Given the description of an element on the screen output the (x, y) to click on. 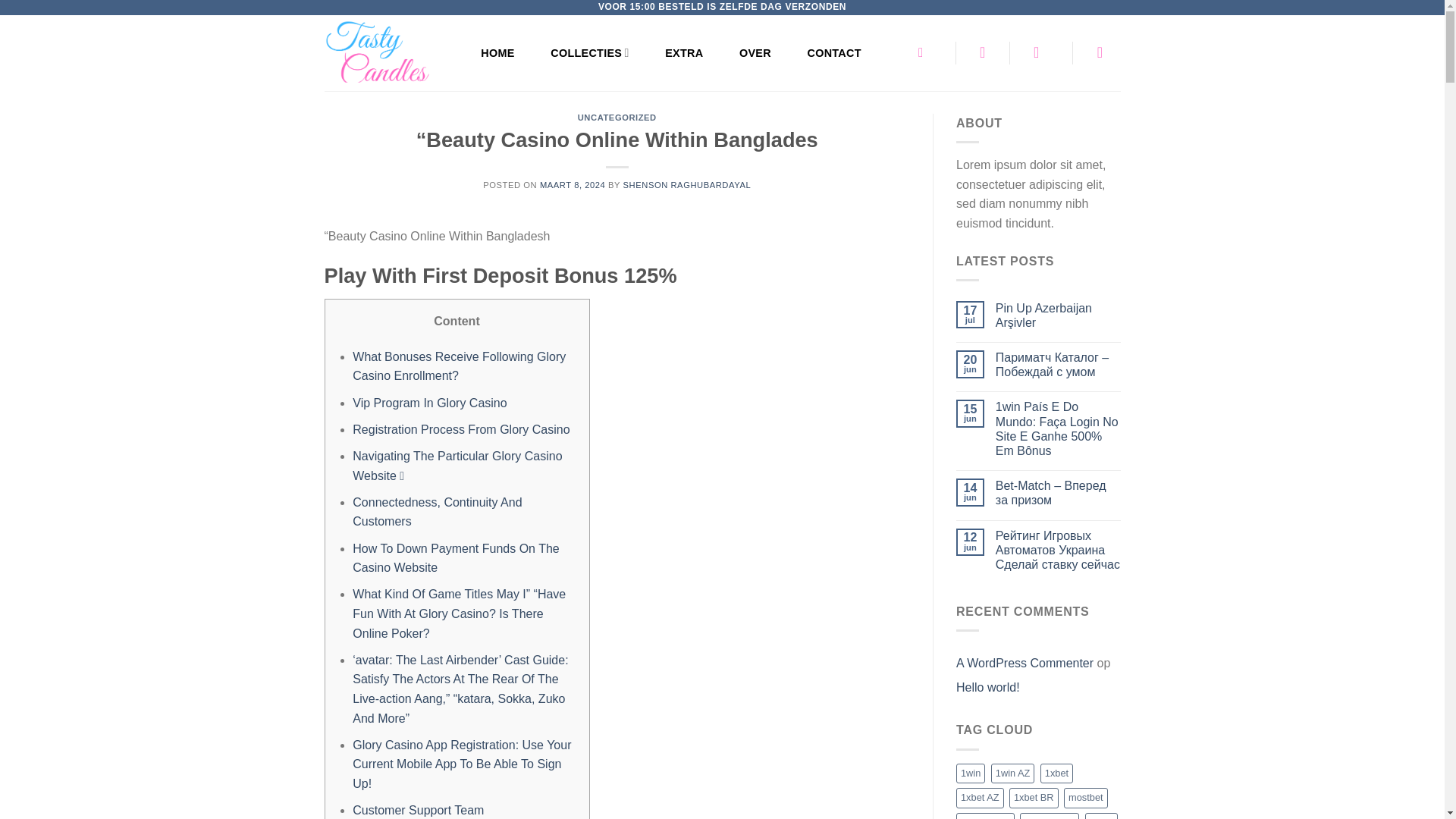
How To Down Payment Funds On The Casino Website (455, 558)
Connectedness, Continuity And Customers (436, 512)
EXTRA (683, 52)
CONTACT (834, 52)
COLLECTIES (589, 52)
MAART 8, 2024 (572, 184)
HOME (497, 52)
What Bonuses Receive Following Glory Casino Enrollment? (459, 366)
Tasty Candles (386, 52)
